Given the description of an element on the screen output the (x, y) to click on. 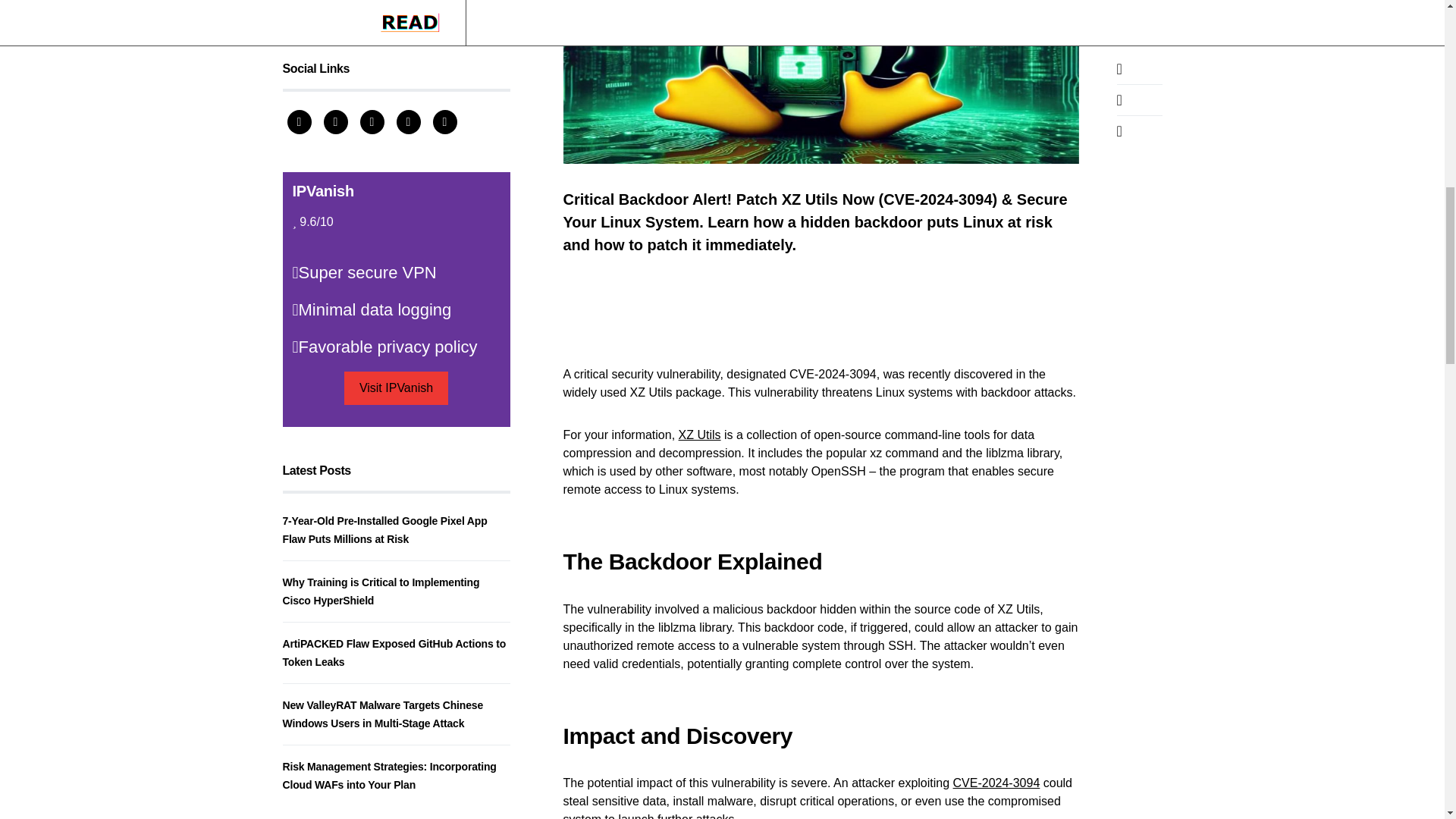
View all posts by Cyber Newswire (324, 492)
View all posts by Cyber Newswire (324, 601)
View all posts by Cyber Newswire (324, 152)
View all posts by Cyber Newswire (324, 260)
View all posts by Cyber Newswire (324, 369)
